Given the description of an element on the screen output the (x, y) to click on. 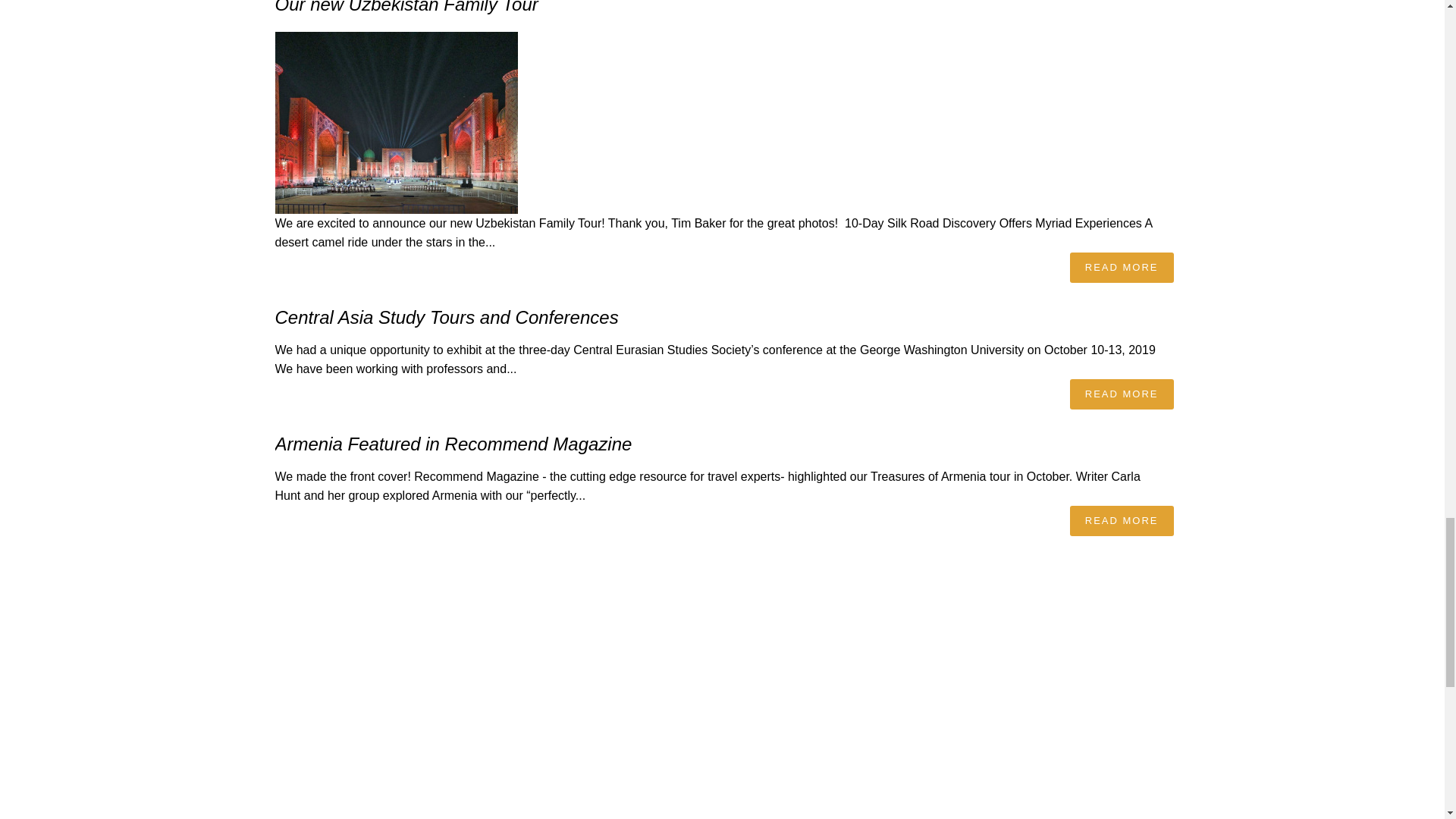
Armenia Featured in Recommend Magazine (453, 444)
READ MORE (1121, 521)
Central Asia Study Tours and Conferences (446, 317)
Our new Uzbekistan Family Tour (406, 7)
READ MORE (1121, 394)
READ MORE (1121, 267)
Central Asia Study Tours and Conferences  (446, 317)
Armenia Featured in Recommend Magazine (453, 444)
Our new Uzbekistan Family Tour  (406, 7)
